Given the description of an element on the screen output the (x, y) to click on. 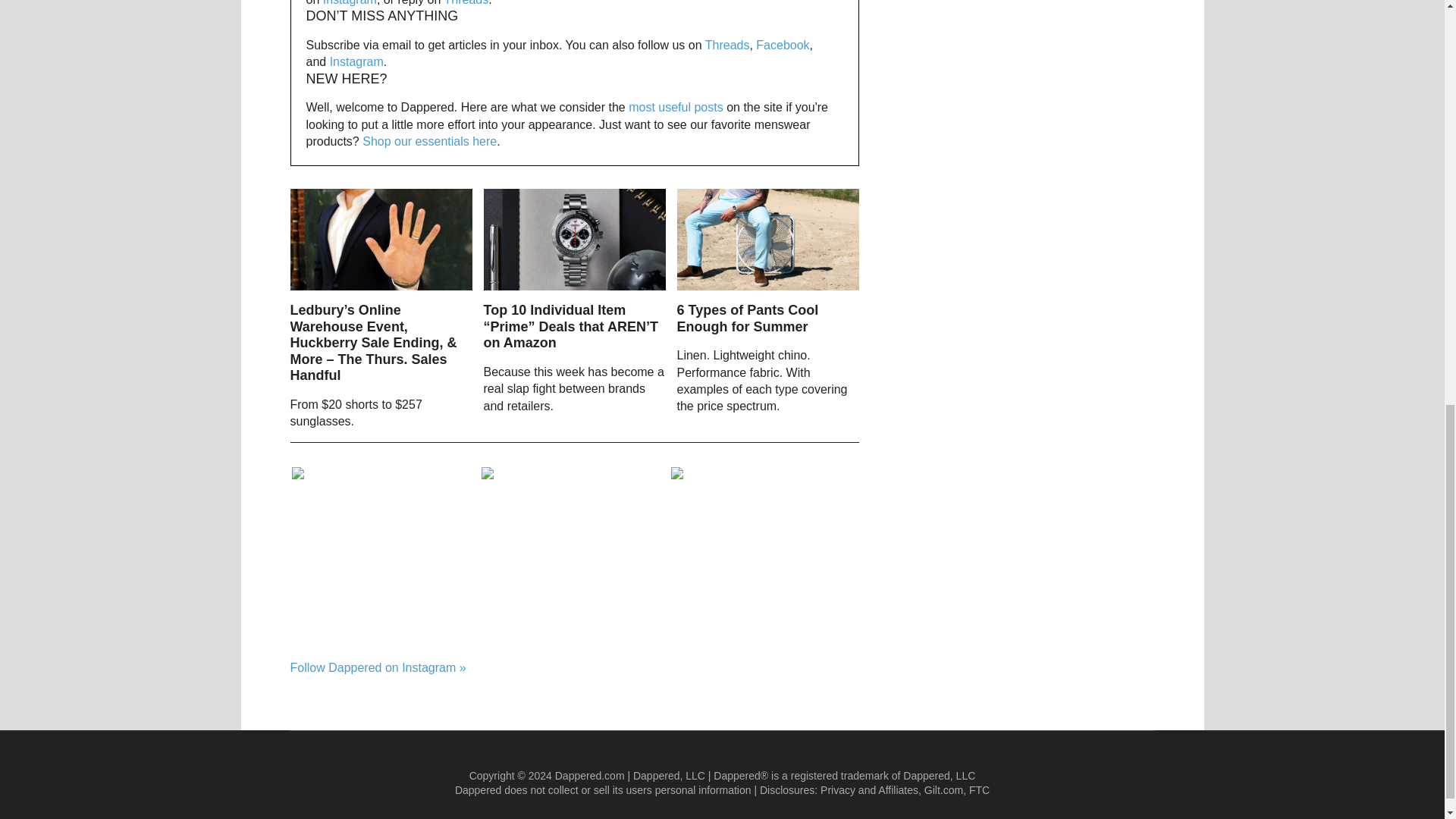
most useful posts (675, 106)
Gilt Disclosure (943, 789)
Facebook (782, 44)
Instagram (350, 2)
Threads (726, 44)
Instagram (357, 61)
6 Types of Pants Cool Enough for Summer (747, 318)
Dappered FTC Disclosures (979, 789)
Shop our essentials here (429, 141)
Privacy and Affiliate Disclosure (869, 789)
Threads (466, 2)
